Given the description of an element on the screen output the (x, y) to click on. 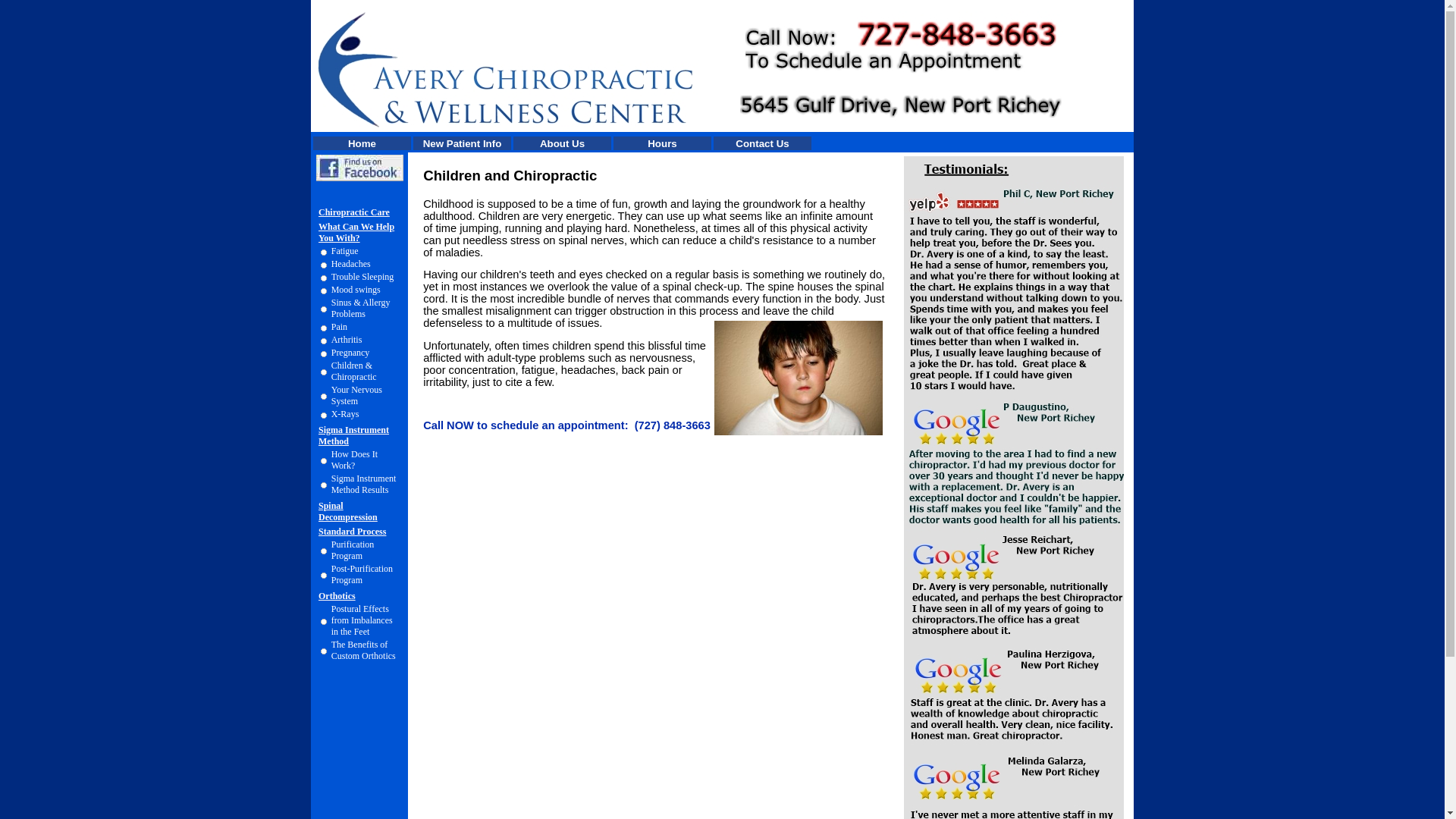
What Can We Help You With? (356, 232)
Contact Us (761, 142)
Post-Purification Program (362, 574)
Fatigue (344, 250)
Spinal Decompression (347, 511)
Orthotics (336, 595)
Your Nervous System (356, 395)
Hours (661, 142)
Trouble Sleeping (362, 276)
Postural Effects from Imbalances in the Feet (362, 620)
